Given the description of an element on the screen output the (x, y) to click on. 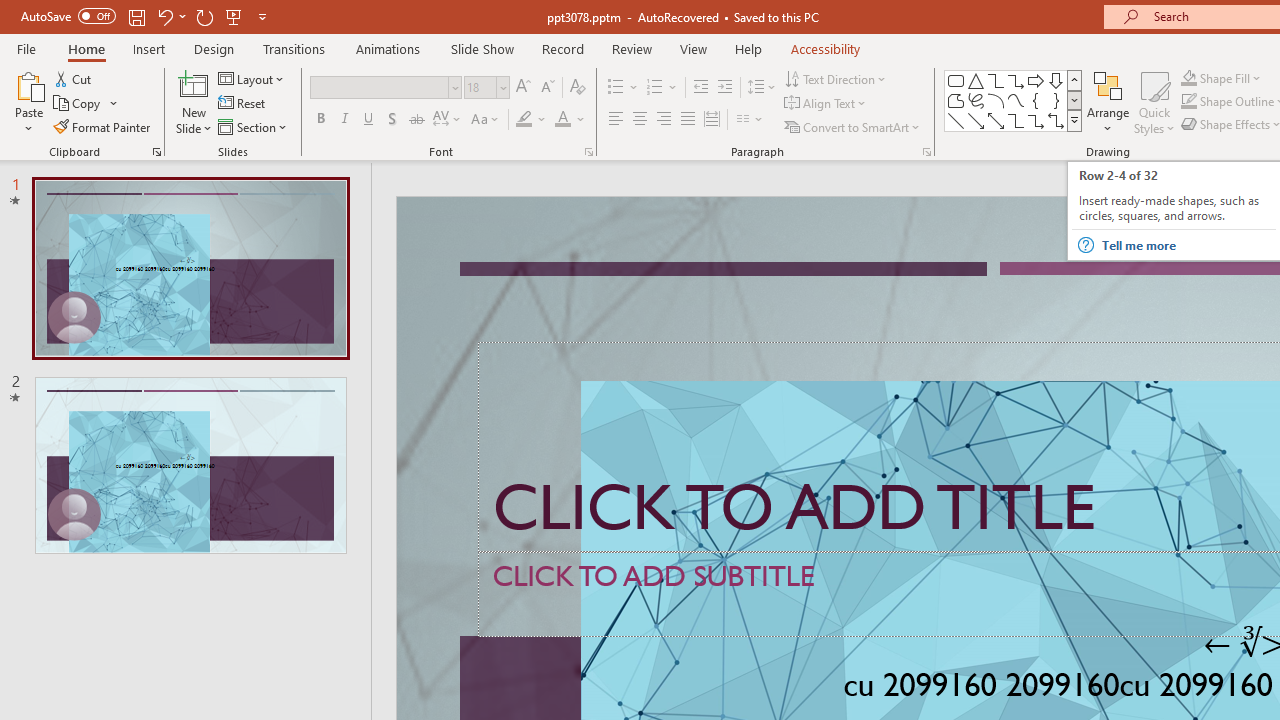
Line Spacing (762, 87)
Right Brace (1055, 100)
Tell me more (1187, 245)
Rectangle: Rounded Corners (955, 80)
Connector: Elbow Double-Arrow (1055, 120)
Strikethrough (416, 119)
Increase Indent (725, 87)
Arrow: Right (1035, 80)
Arrange (1108, 102)
Increase Font Size (522, 87)
